Given the description of an element on the screen output the (x, y) to click on. 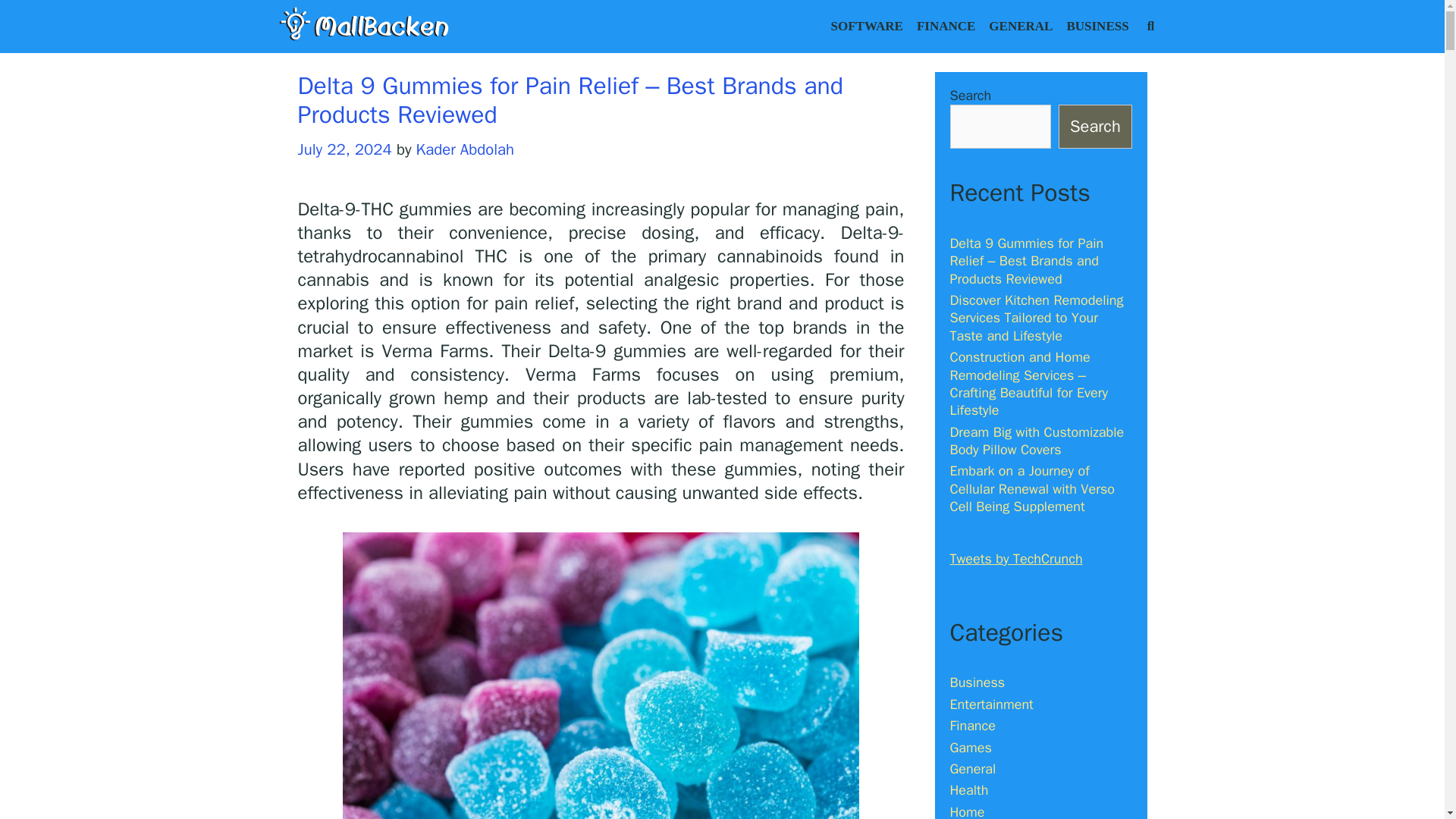
July 22, 2024 (344, 148)
View all posts by Kader Abdolah (464, 148)
12:05 pm (344, 148)
Mall Backen (364, 24)
FINANCE (945, 26)
Kader Abdolah (464, 148)
GENERAL (1020, 26)
SOFTWARE (866, 26)
BUSINESS (1097, 26)
Mall Backen (364, 25)
